Given the description of an element on the screen output the (x, y) to click on. 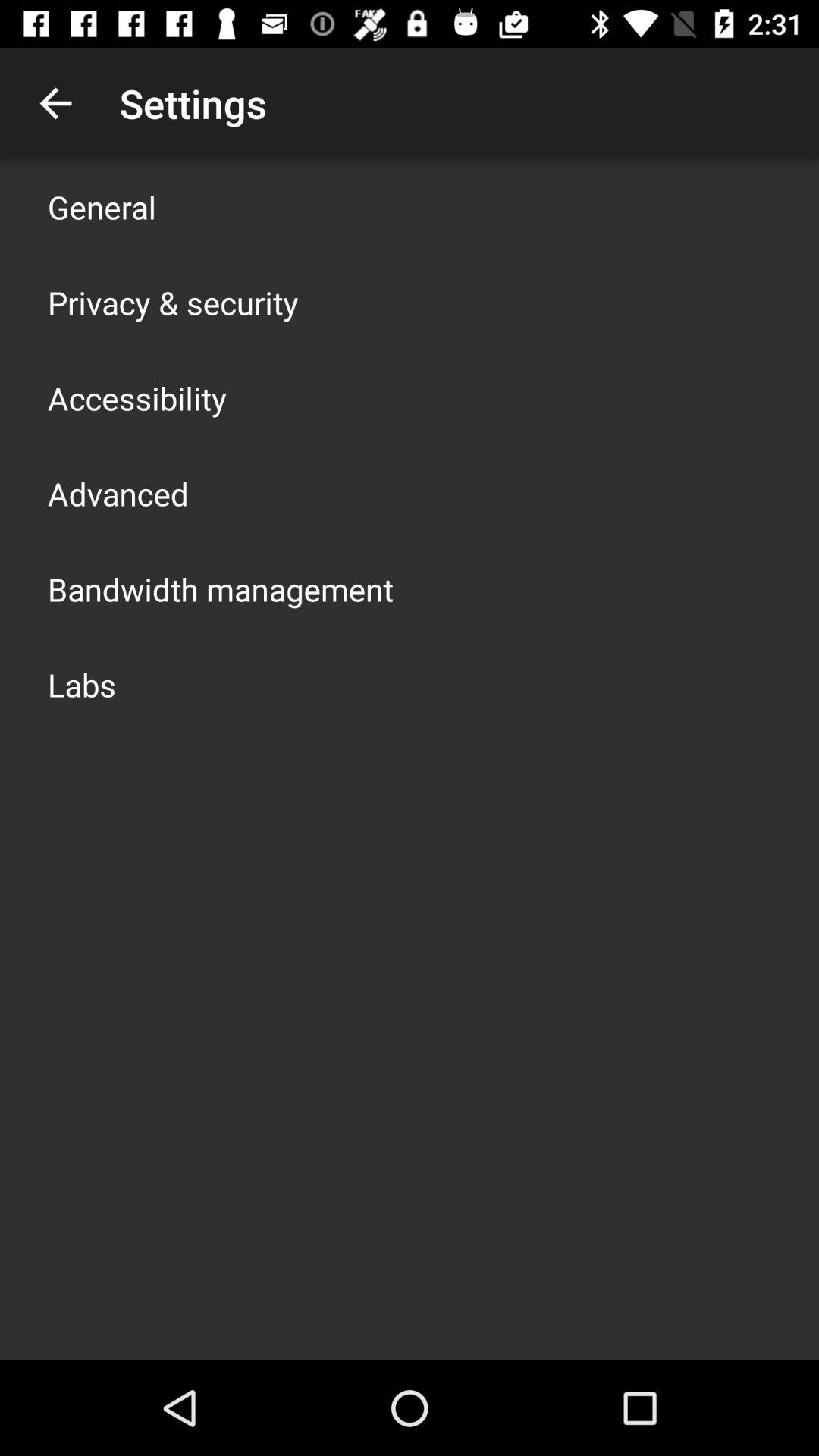
scroll until accessibility icon (136, 397)
